Given the description of an element on the screen output the (x, y) to click on. 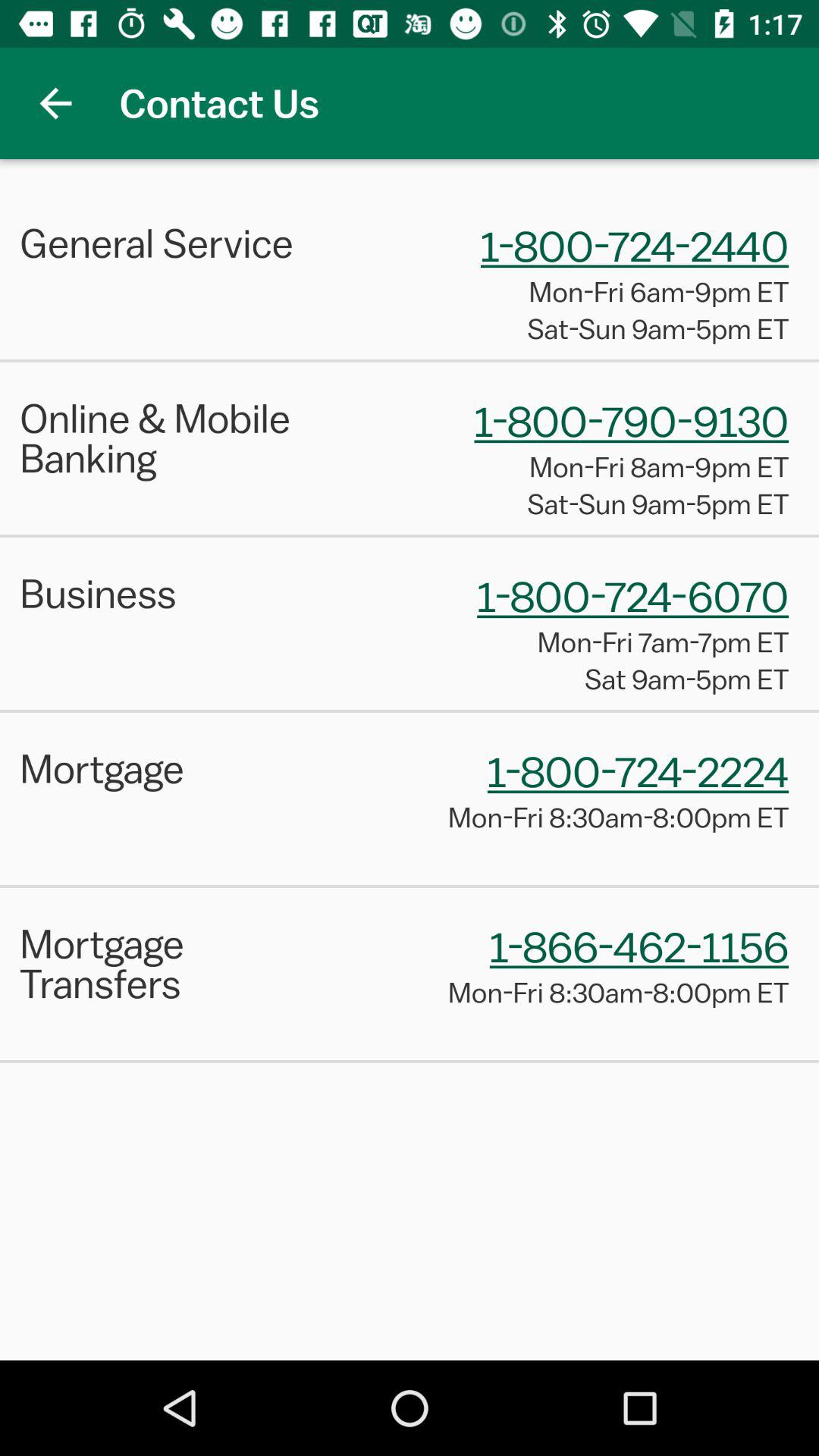
jump to mortgage transfers (179, 963)
